Given the description of an element on the screen output the (x, y) to click on. 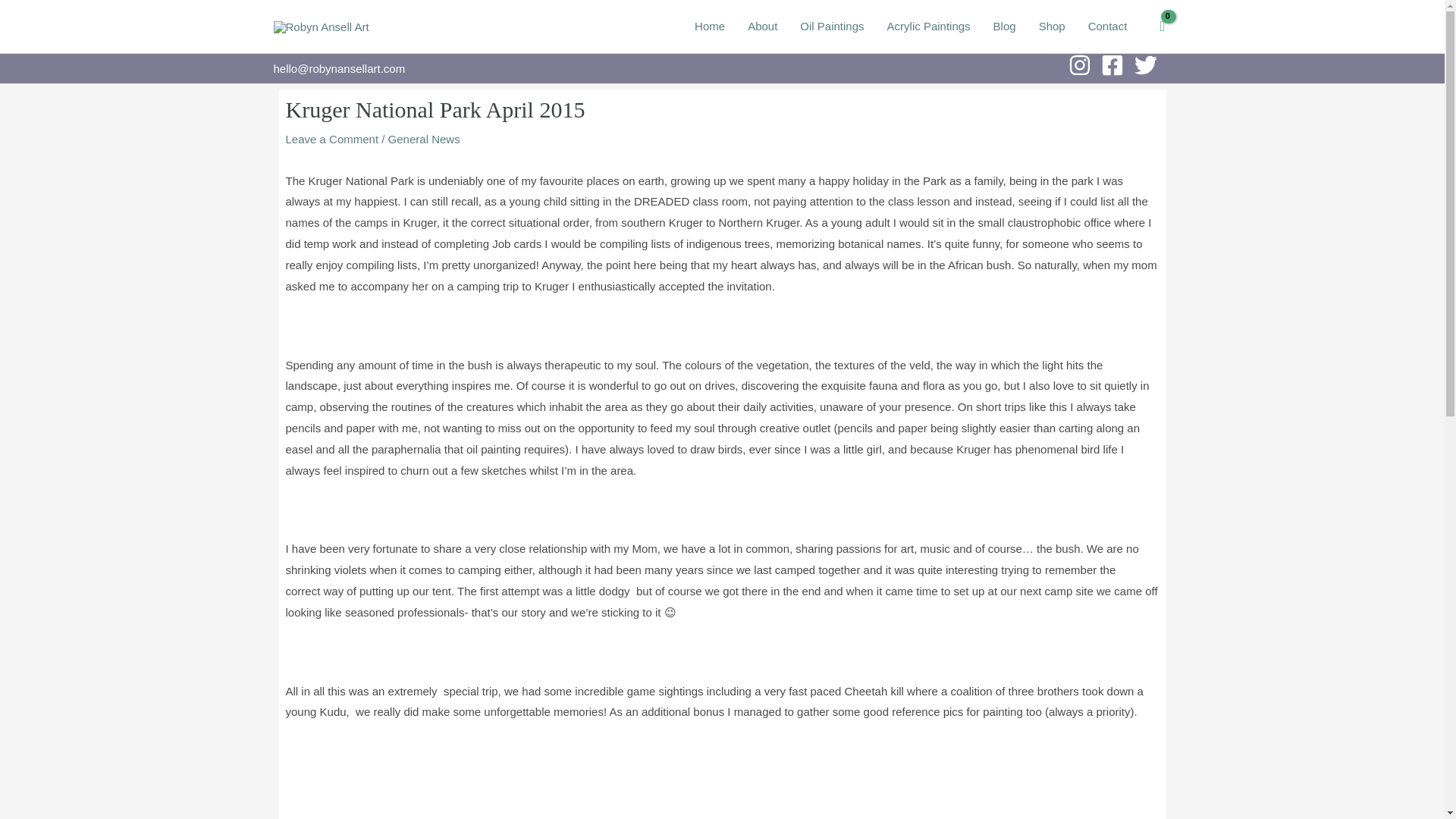
Contact (1107, 26)
Shop (1052, 26)
Acrylic Paintings (928, 26)
Home (709, 26)
About (762, 26)
Oil Paintings (832, 26)
